Given the description of an element on the screen output the (x, y) to click on. 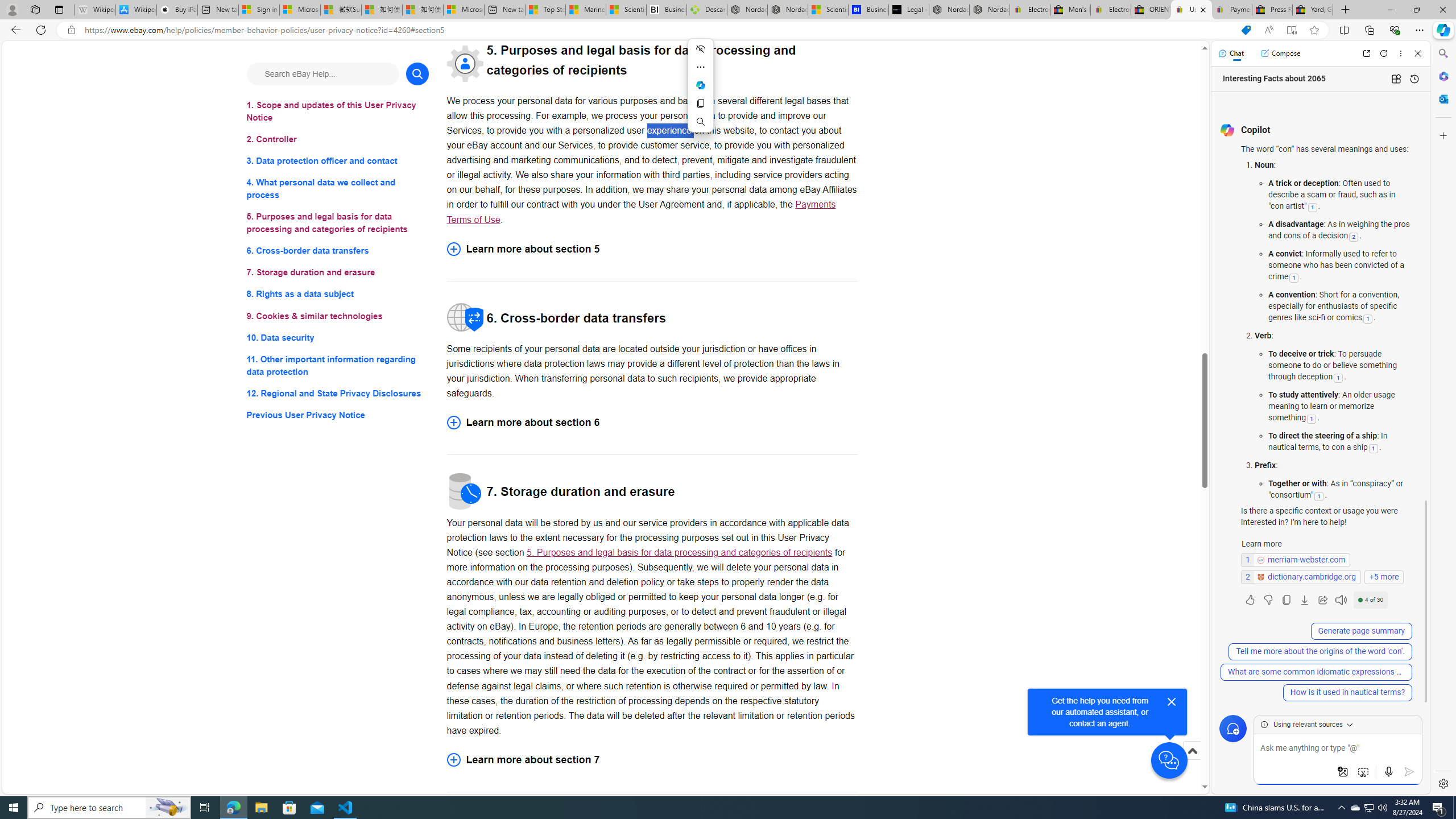
9. Cookies & similar technologies (337, 315)
12. Regional and State Privacy Disclosures (337, 392)
Payments Terms of Use | eBay.com (1231, 9)
Nordace - Summer Adventures 2024 (949, 9)
8. Rights as a data subject (337, 293)
Press Room - eBay Inc. (1272, 9)
Scroll to top (1191, 762)
Scroll to top (1191, 750)
Payments Terms of Use - opens in new window or tab (640, 211)
Compose (1280, 52)
12. Regional and State Privacy Disclosures (337, 392)
Learn more about section 6 (651, 422)
